Given the description of an element on the screen output the (x, y) to click on. 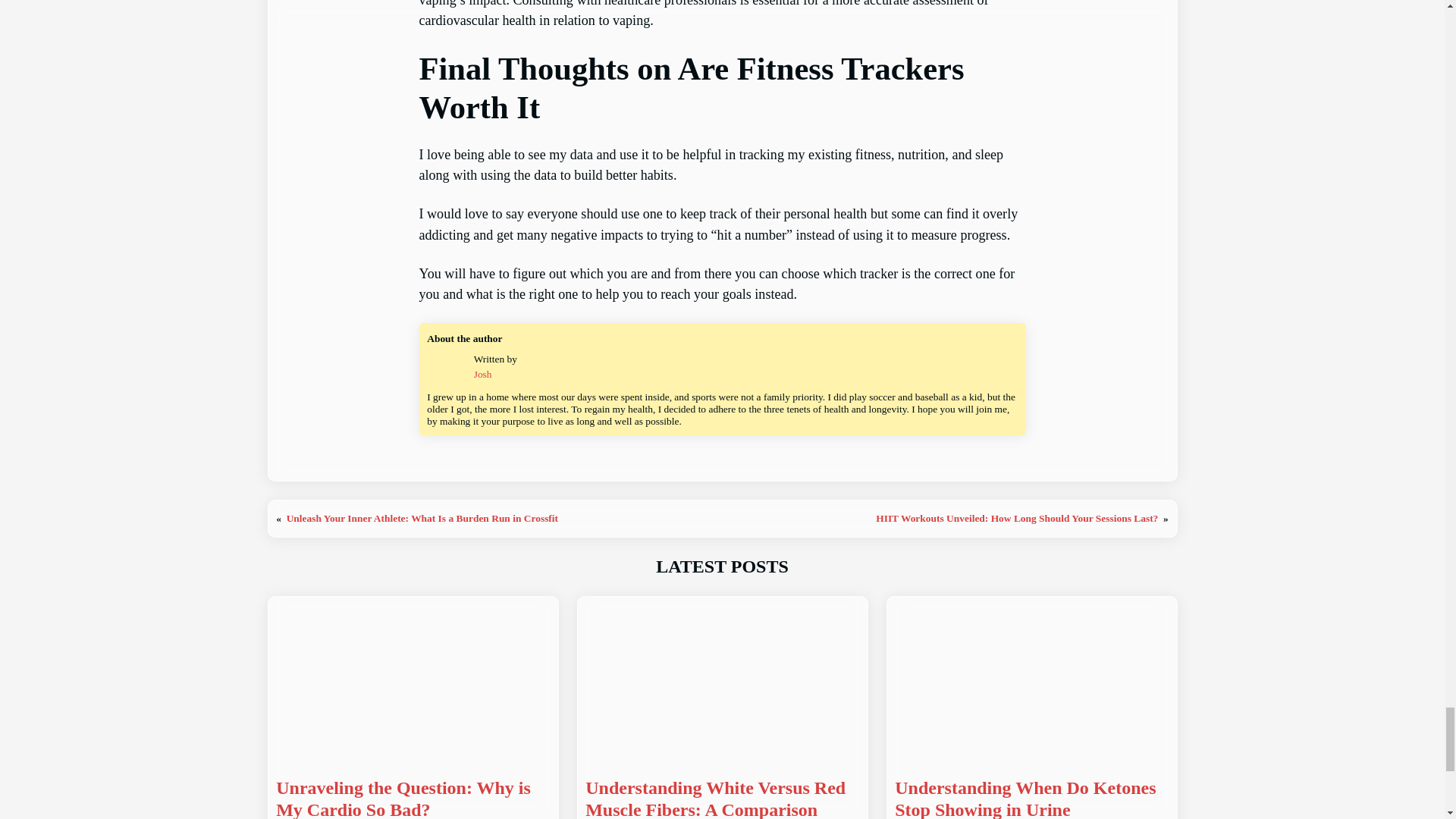
Unraveling the Question: Why is My Cardio So Bad? (413, 798)
Josh (483, 374)
Unleash Your Inner Athlete: What Is a Burden Run in Crossfit (421, 518)
Understanding When Do Ketones Stop Showing in Urine (1032, 798)
HIIT Workouts Unveiled: How Long Should Your Sessions Last? (1016, 518)
Understanding White Versus Red Muscle Fibers: A Comparison (722, 798)
